Given the description of an element on the screen output the (x, y) to click on. 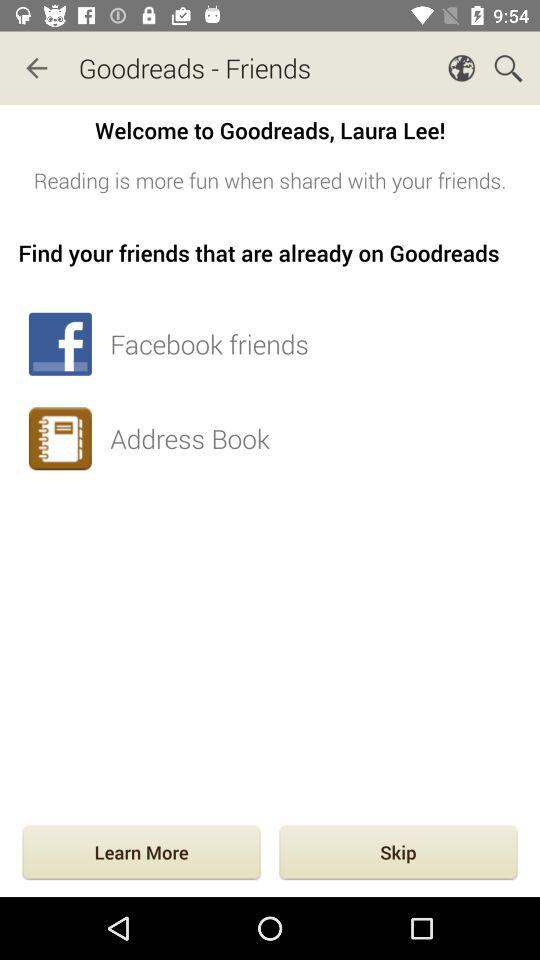
press the item next to the learn more icon (398, 854)
